Given the description of an element on the screen output the (x, y) to click on. 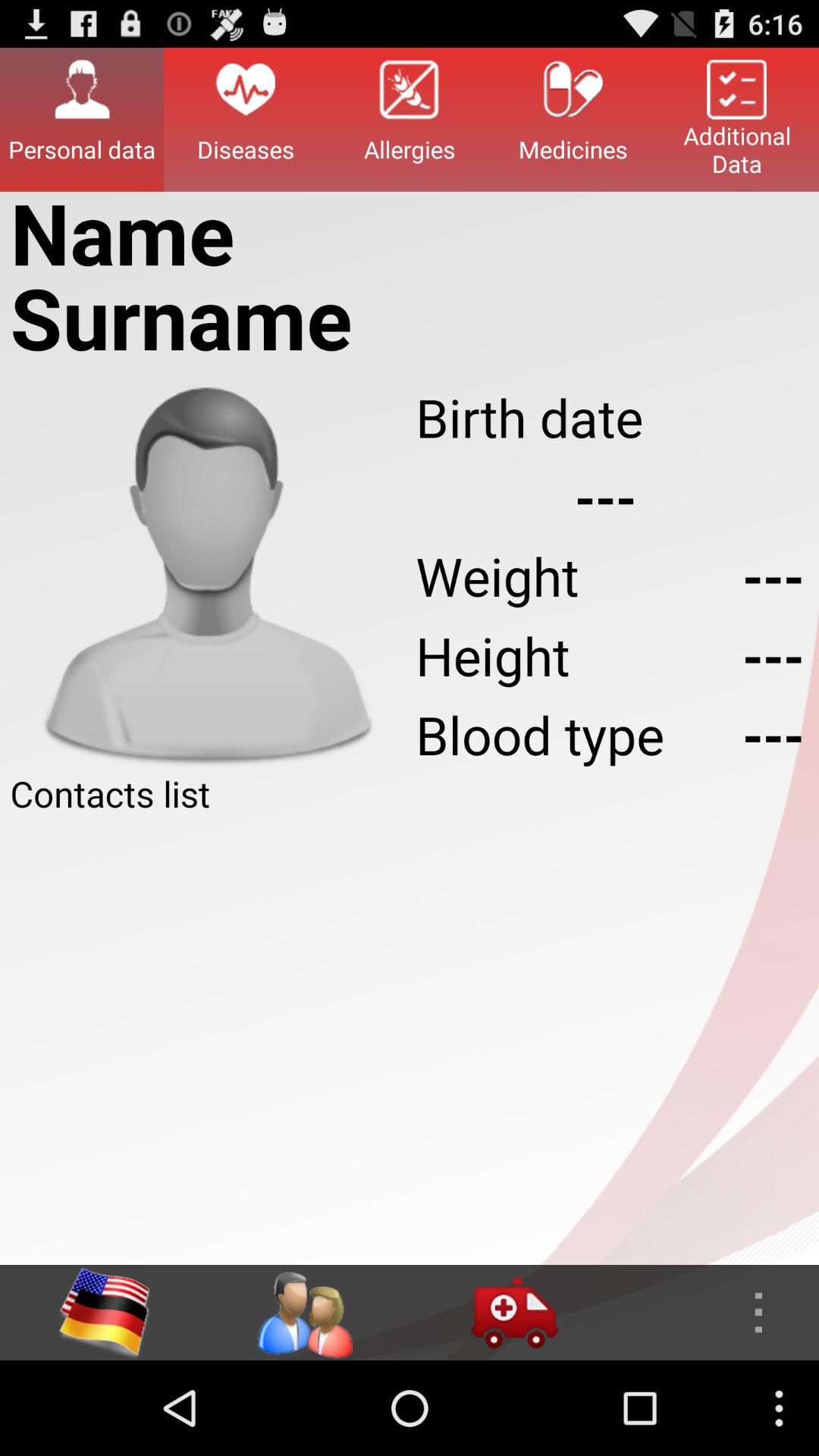
type in contacts list details (409, 1041)
